Given the description of an element on the screen output the (x, y) to click on. 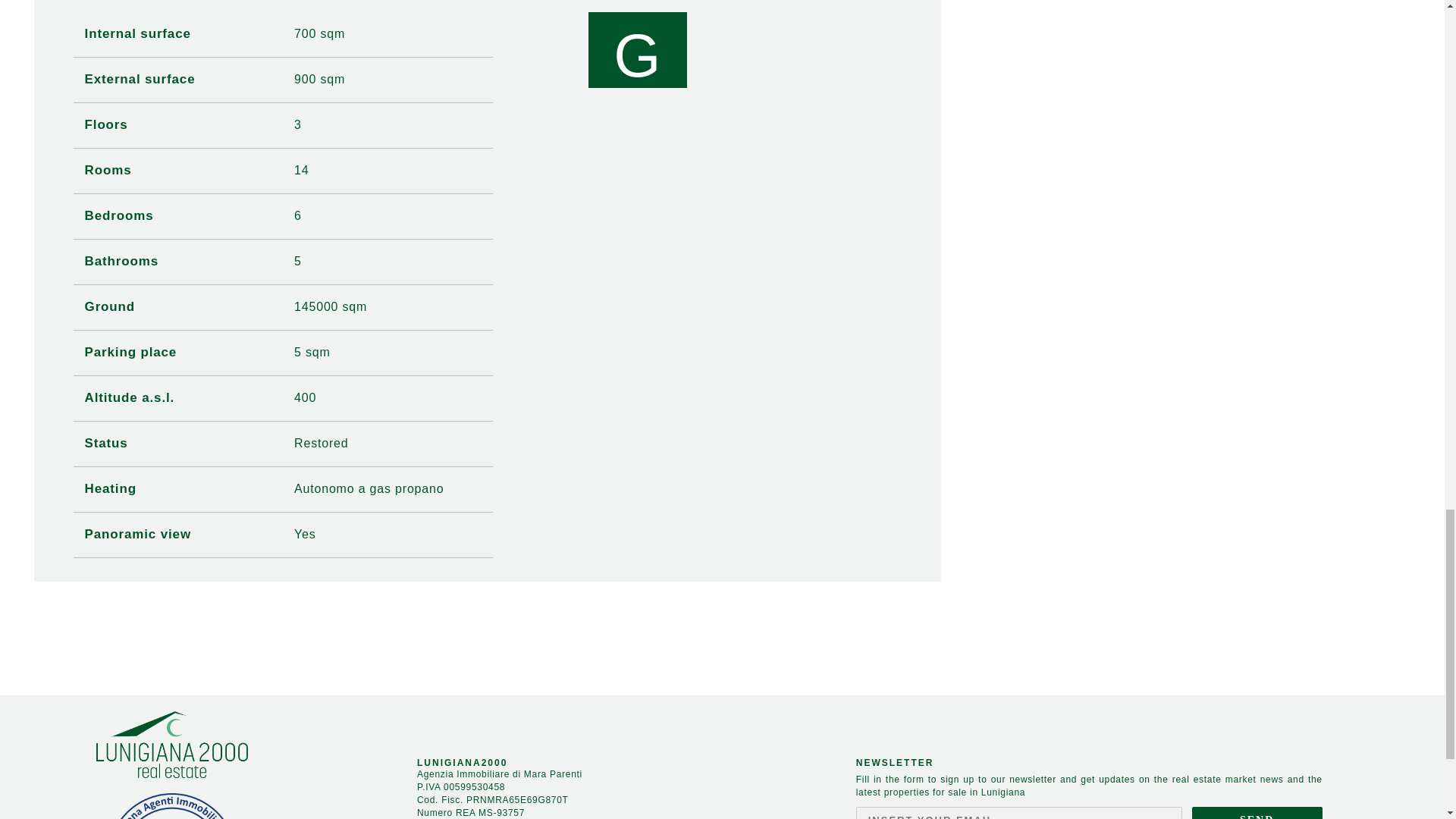
Lunigiana2000 (171, 744)
SEND (1257, 812)
